Given the description of an element on the screen output the (x, y) to click on. 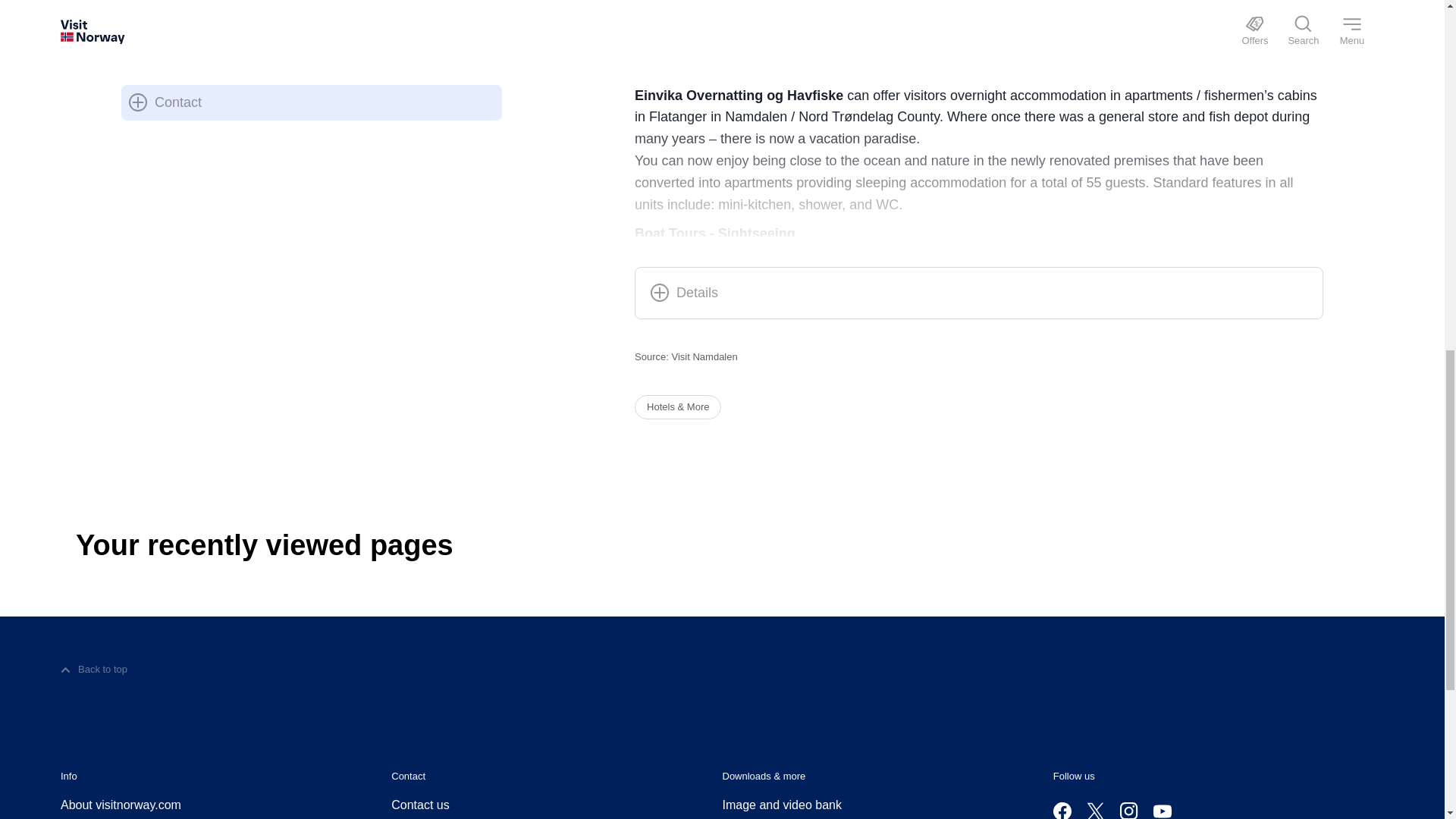
Details (683, 292)
Image and video bank (781, 805)
Contact (165, 102)
Contact us (419, 805)
About visitnorway.com (120, 805)
Back to top (94, 669)
